Given the description of an element on the screen output the (x, y) to click on. 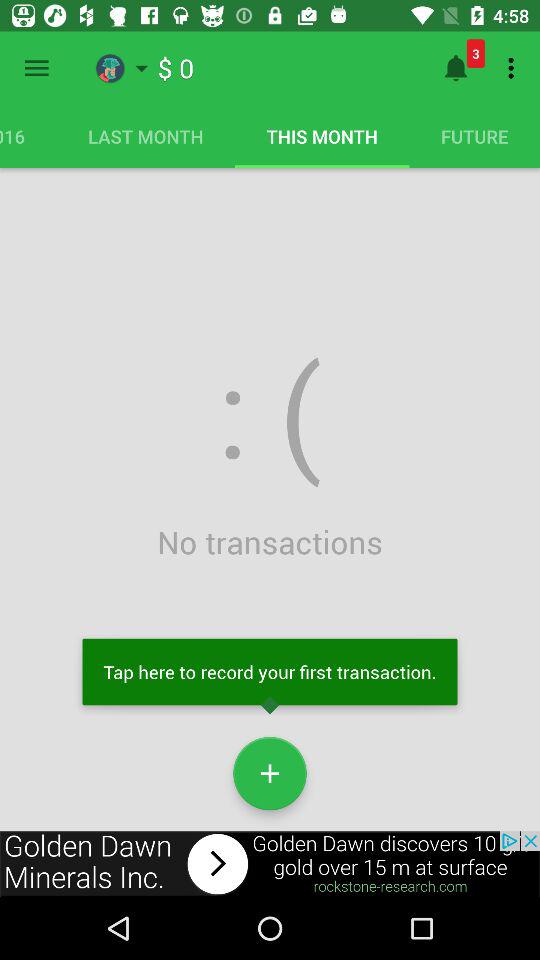
open hamburger menu (36, 68)
